Given the description of an element on the screen output the (x, y) to click on. 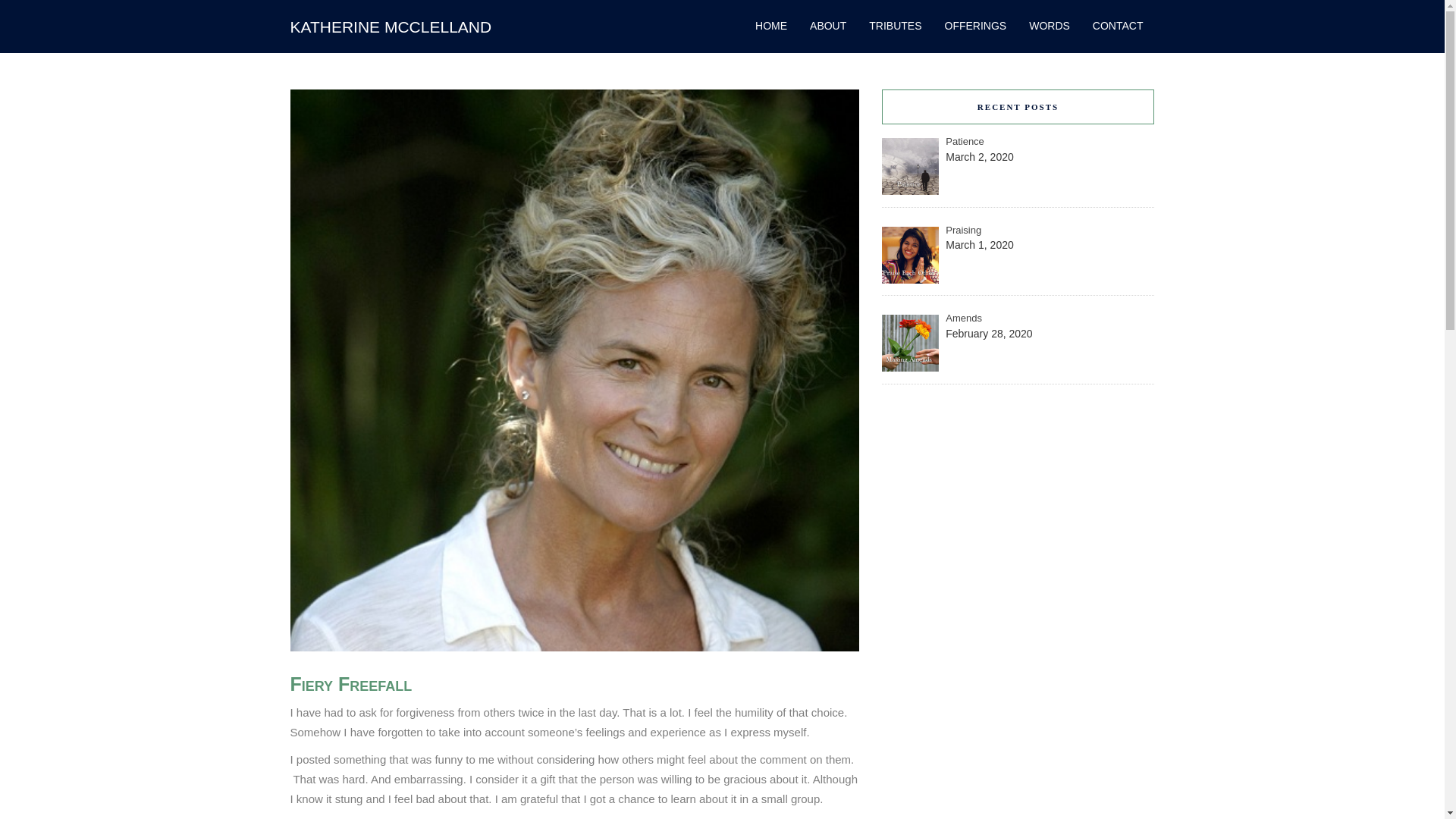
Amends (1017, 318)
WORDS (1049, 25)
Praising (1017, 230)
TRIBUTES (895, 25)
OFFERINGS (975, 25)
HOME (770, 25)
ABOUT (827, 25)
Patience (1017, 142)
KATHERINE MCCLELLAND (390, 27)
CONTACT (1111, 25)
